Given the description of an element on the screen output the (x, y) to click on. 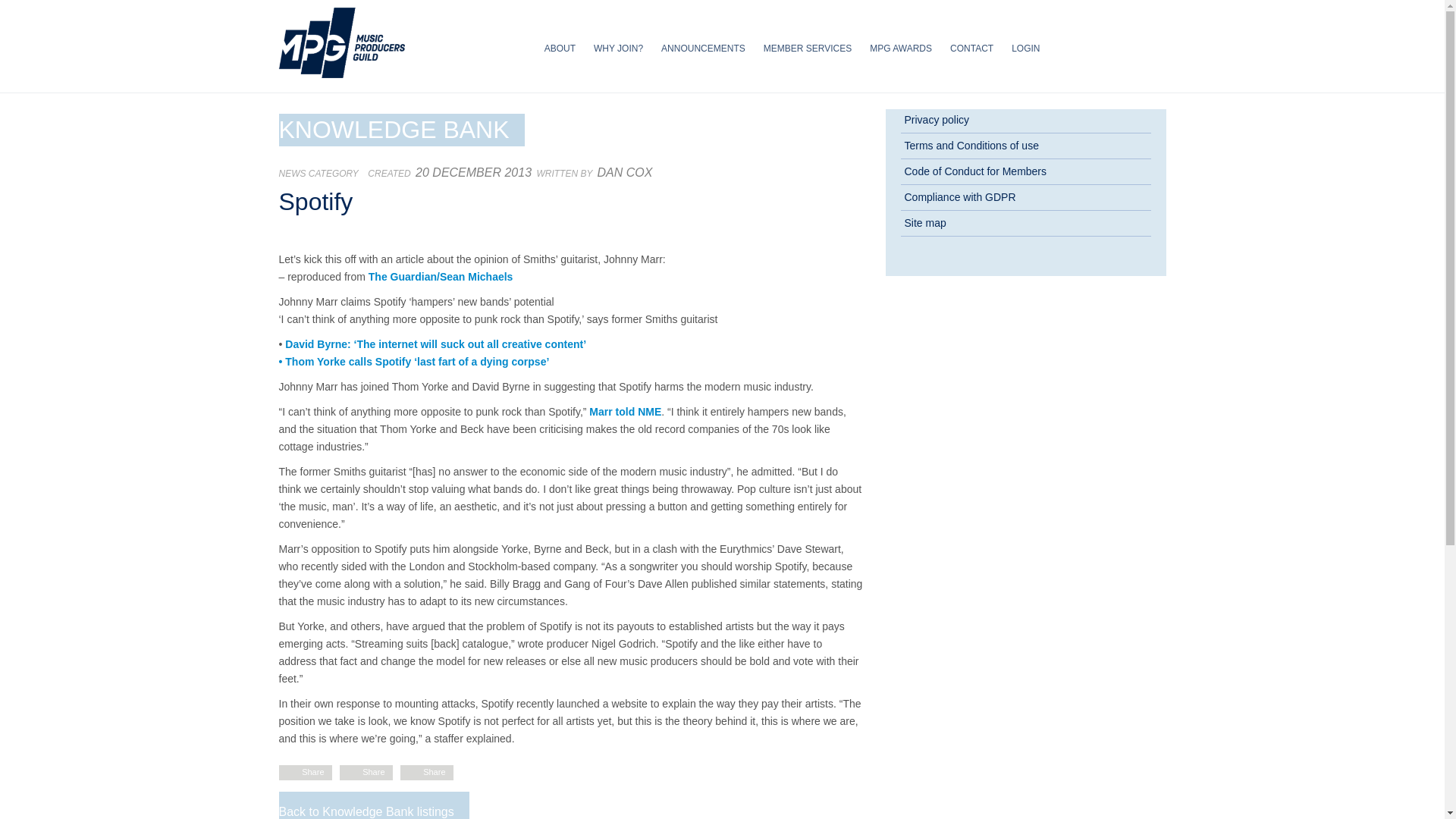
CONTACT (971, 48)
Code of Conduct for Members (1026, 171)
Share (434, 771)
Search site (1111, 185)
LOGIN (1025, 48)
Site map (1026, 223)
Back to Knowledge Bank listings (366, 811)
MPG AWARDS (900, 48)
Share (312, 771)
Privacy policy (1026, 119)
